Given the description of an element on the screen output the (x, y) to click on. 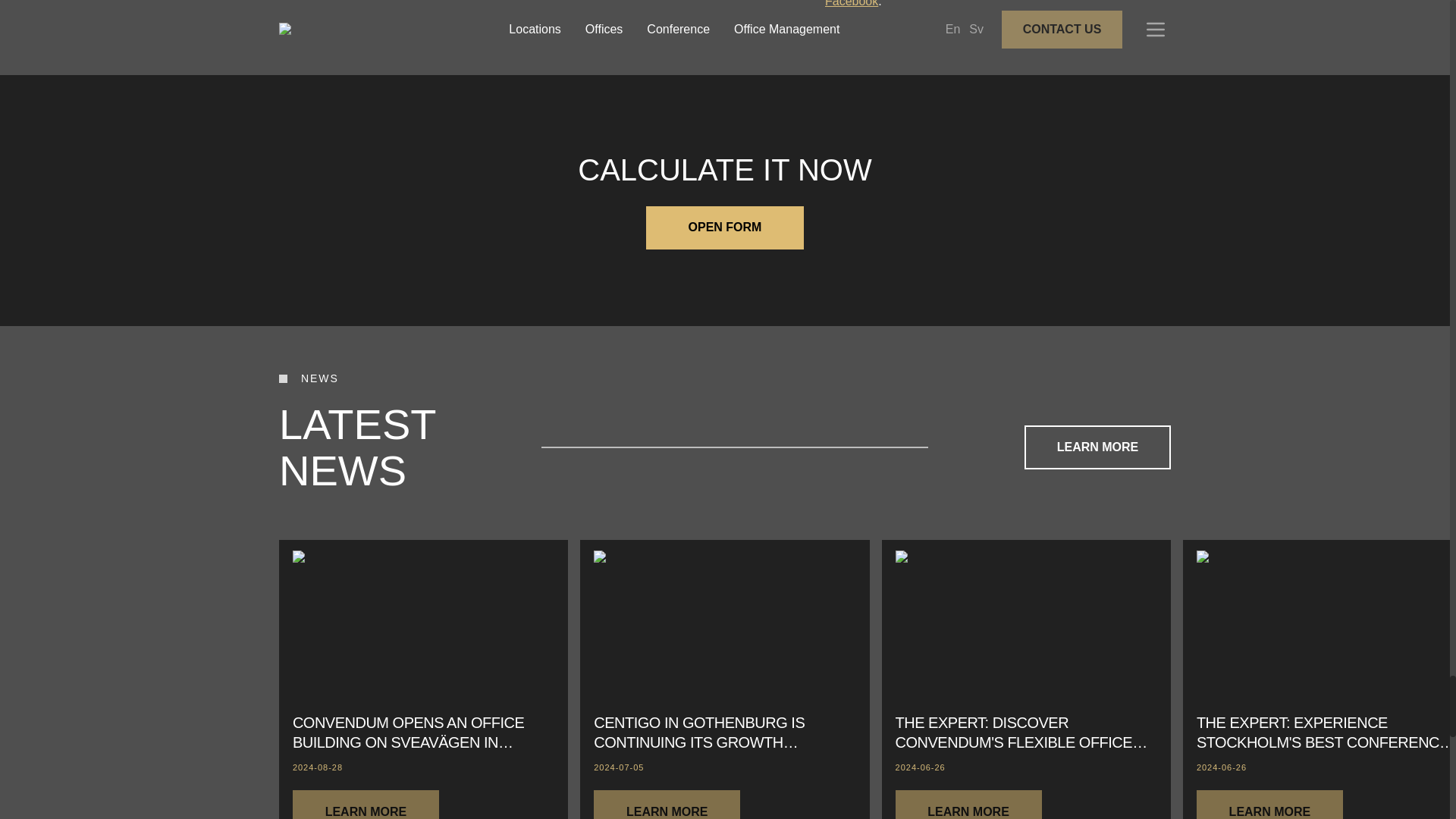
Facebook (851, 3)
LEARN MORE (365, 811)
LEARN MORE (365, 804)
LEARN MORE (1097, 447)
